Given the description of an element on the screen output the (x, y) to click on. 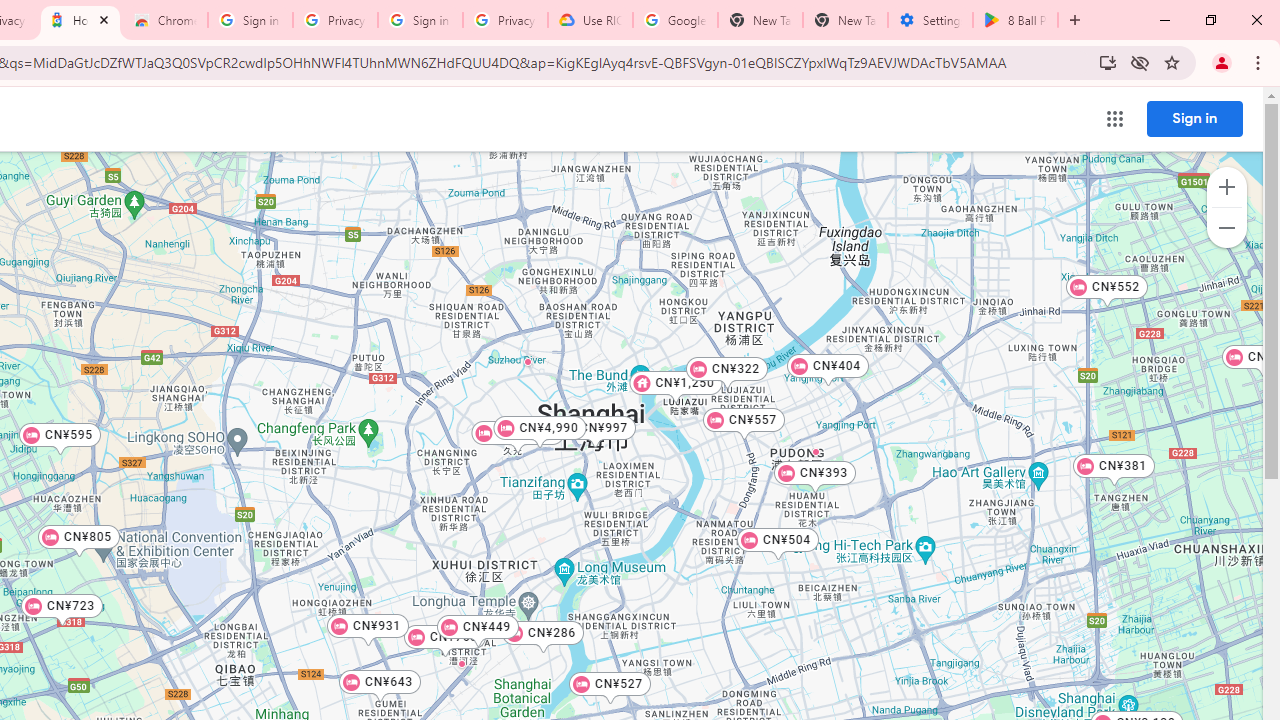
New Tab (845, 20)
Sign in - Google Accounts (420, 20)
Vienna International Hotel (527, 361)
